Given the description of an element on the screen output the (x, y) to click on. 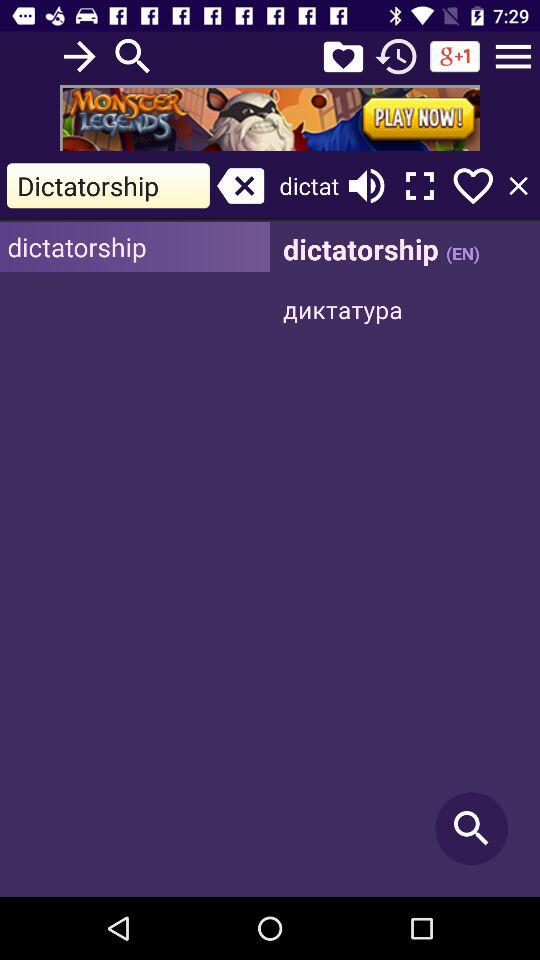
full screen (419, 185)
